Given the description of an element on the screen output the (x, y) to click on. 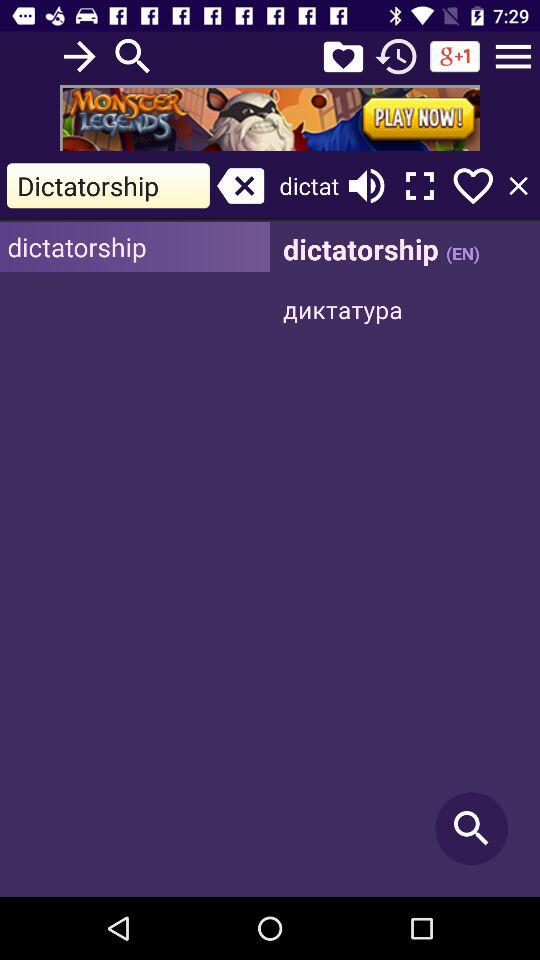
full screen (419, 185)
